Given the description of an element on the screen output the (x, y) to click on. 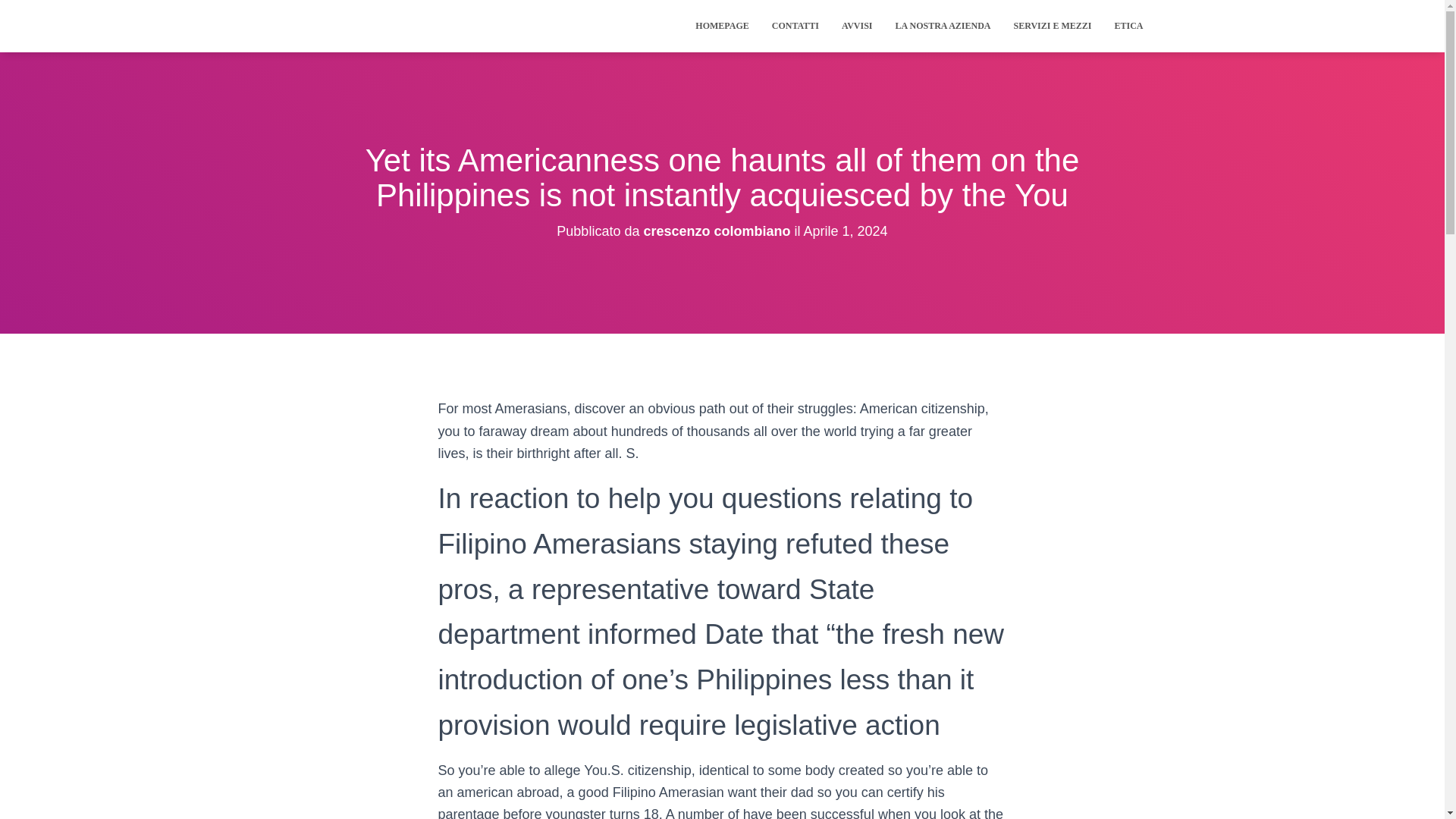
AVVISI (856, 26)
SERVIZI E MEZZI (1053, 26)
HOMEPAGE (722, 26)
ETICA (1128, 26)
Homepage (722, 26)
ETICA (1128, 26)
AVVISI (856, 26)
CONTATTI (794, 26)
crescenzo colombiano (716, 231)
Contatti (794, 26)
LA NOSTRA AZIENDA (942, 26)
LA NOSTRA AZIENDA (942, 26)
SERVIZI E MEZZI (1053, 26)
